Given the description of an element on the screen output the (x, y) to click on. 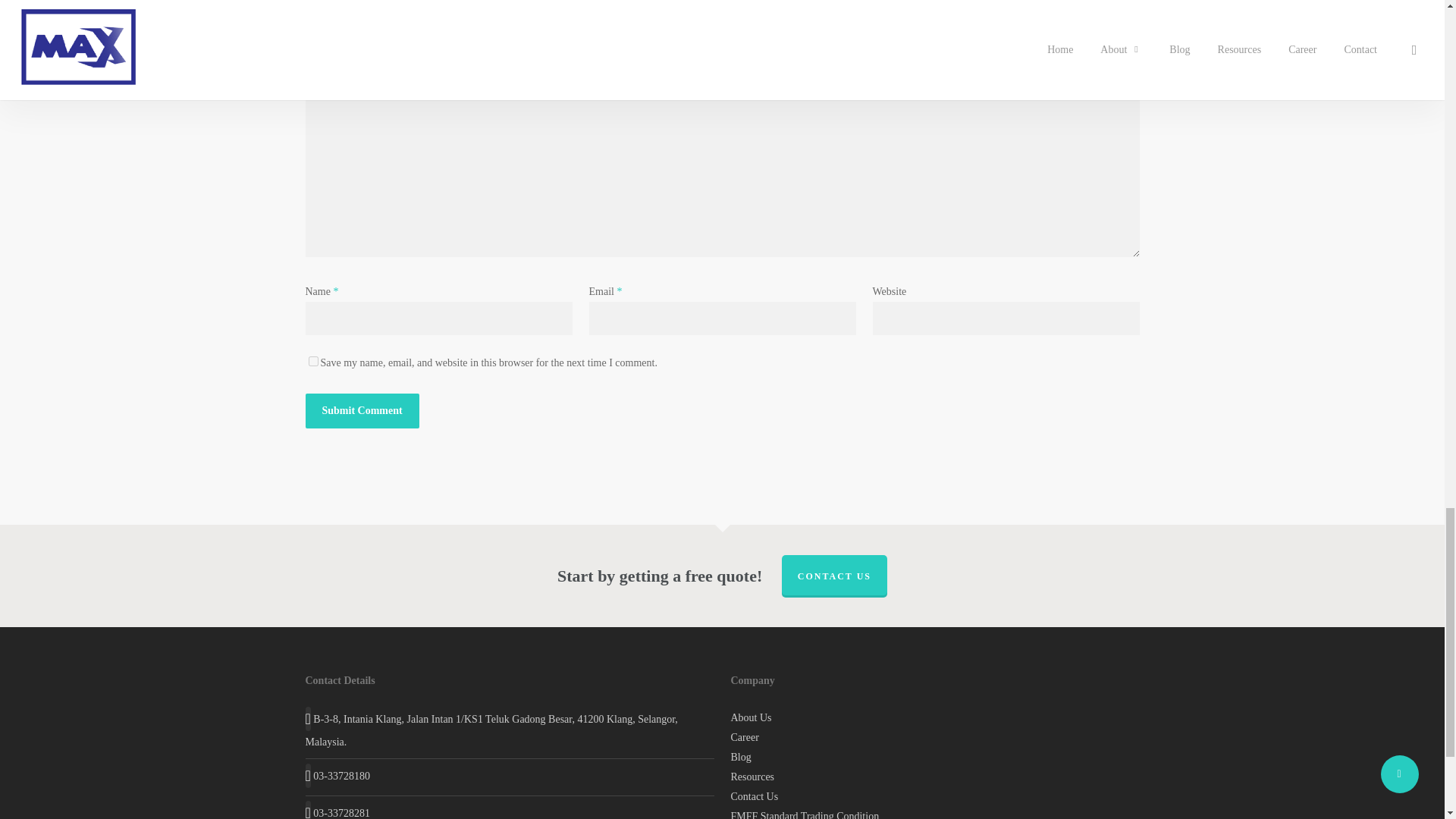
Submit Comment (361, 410)
yes (312, 361)
